Given the description of an element on the screen output the (x, y) to click on. 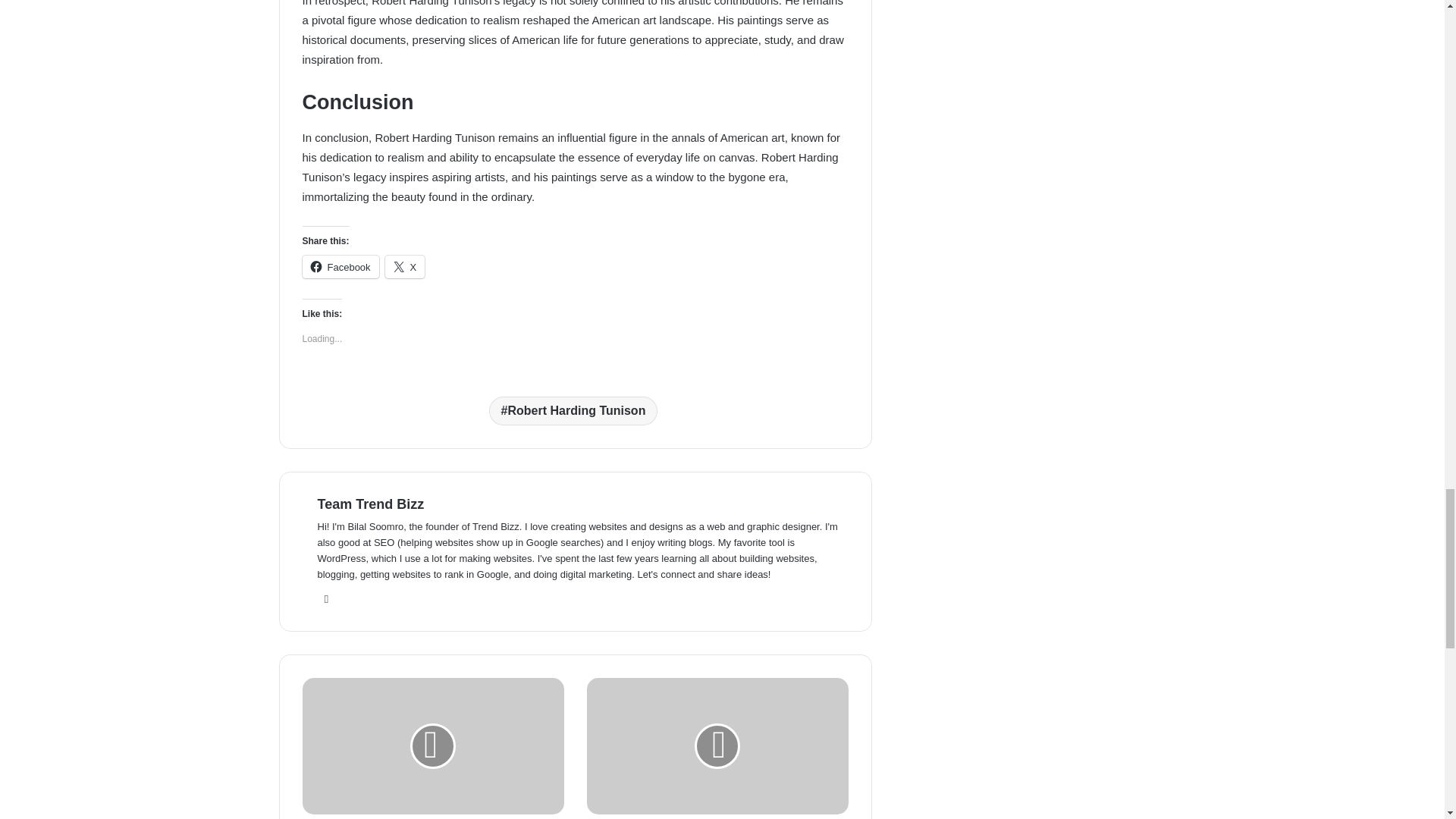
Click to share on X (405, 266)
Click to share on Facebook (339, 266)
X (405, 266)
Facebook (339, 266)
